Given the description of an element on the screen output the (x, y) to click on. 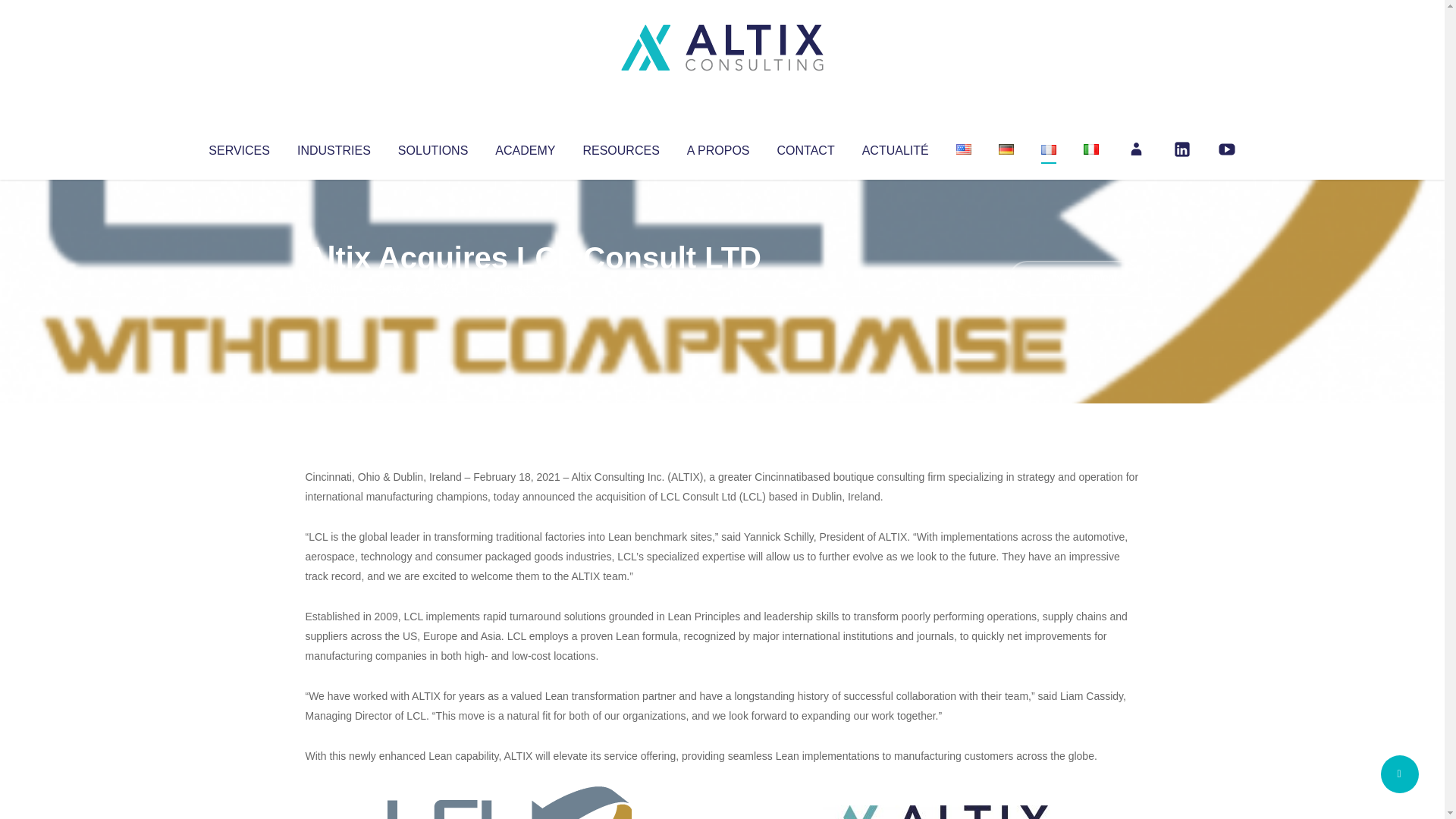
SERVICES (238, 146)
INDUSTRIES (334, 146)
Uncategorized (530, 287)
SOLUTIONS (432, 146)
No Comments (1073, 278)
Articles par Altix (333, 287)
ACADEMY (524, 146)
Altix (333, 287)
A PROPOS (718, 146)
RESOURCES (620, 146)
